Given the description of an element on the screen output the (x, y) to click on. 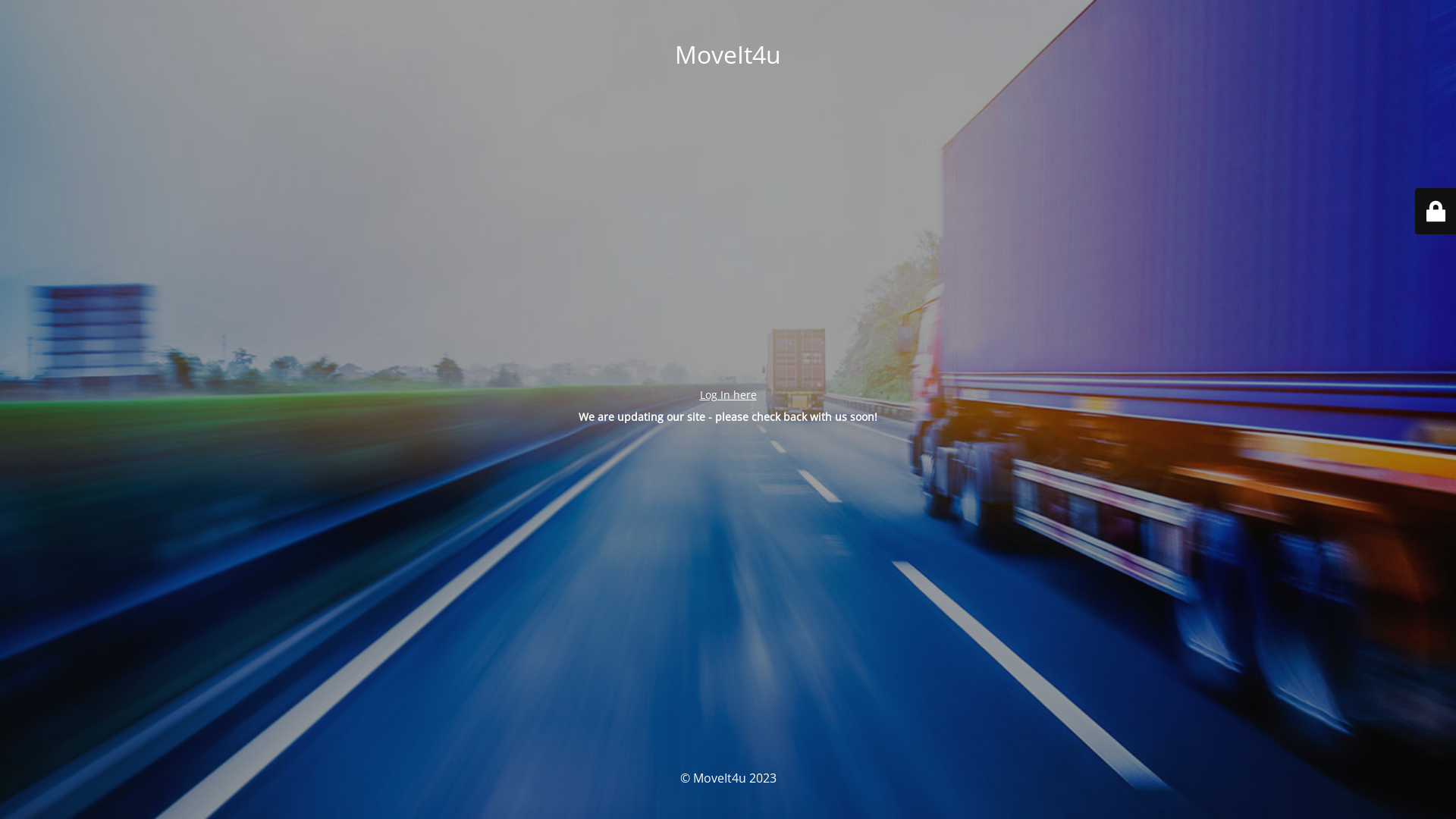
Log In here Element type: text (727, 394)
